Given the description of an element on the screen output the (x, y) to click on. 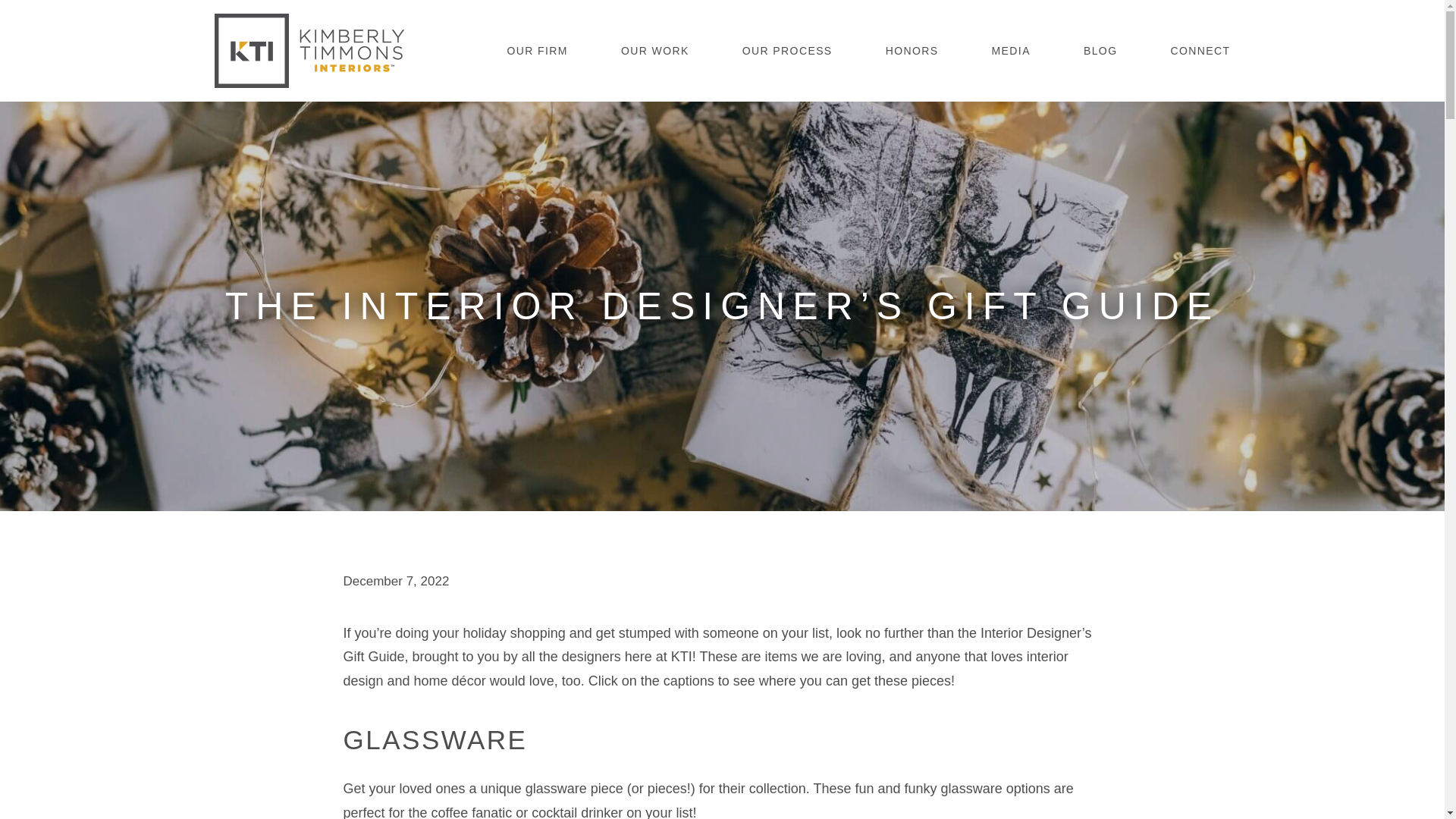
OUR PROCESS (787, 50)
HONORS (912, 50)
OUR FIRM (536, 50)
CONNECT (1200, 50)
BLOG (1100, 50)
MEDIA (1010, 50)
OUR WORK (654, 50)
